Given the description of an element on the screen output the (x, y) to click on. 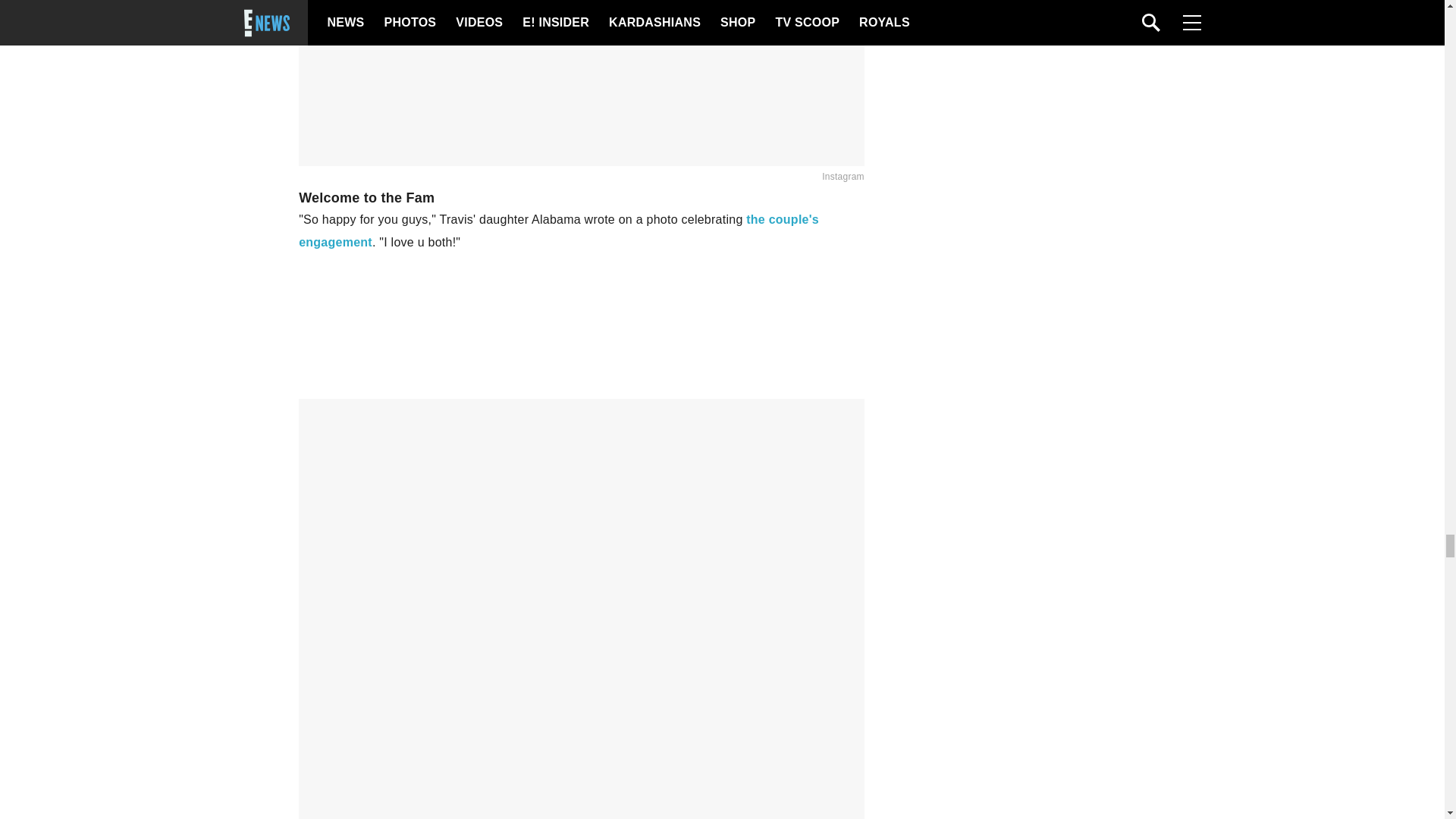
the couple's engagement (558, 230)
